Given the description of an element on the screen output the (x, y) to click on. 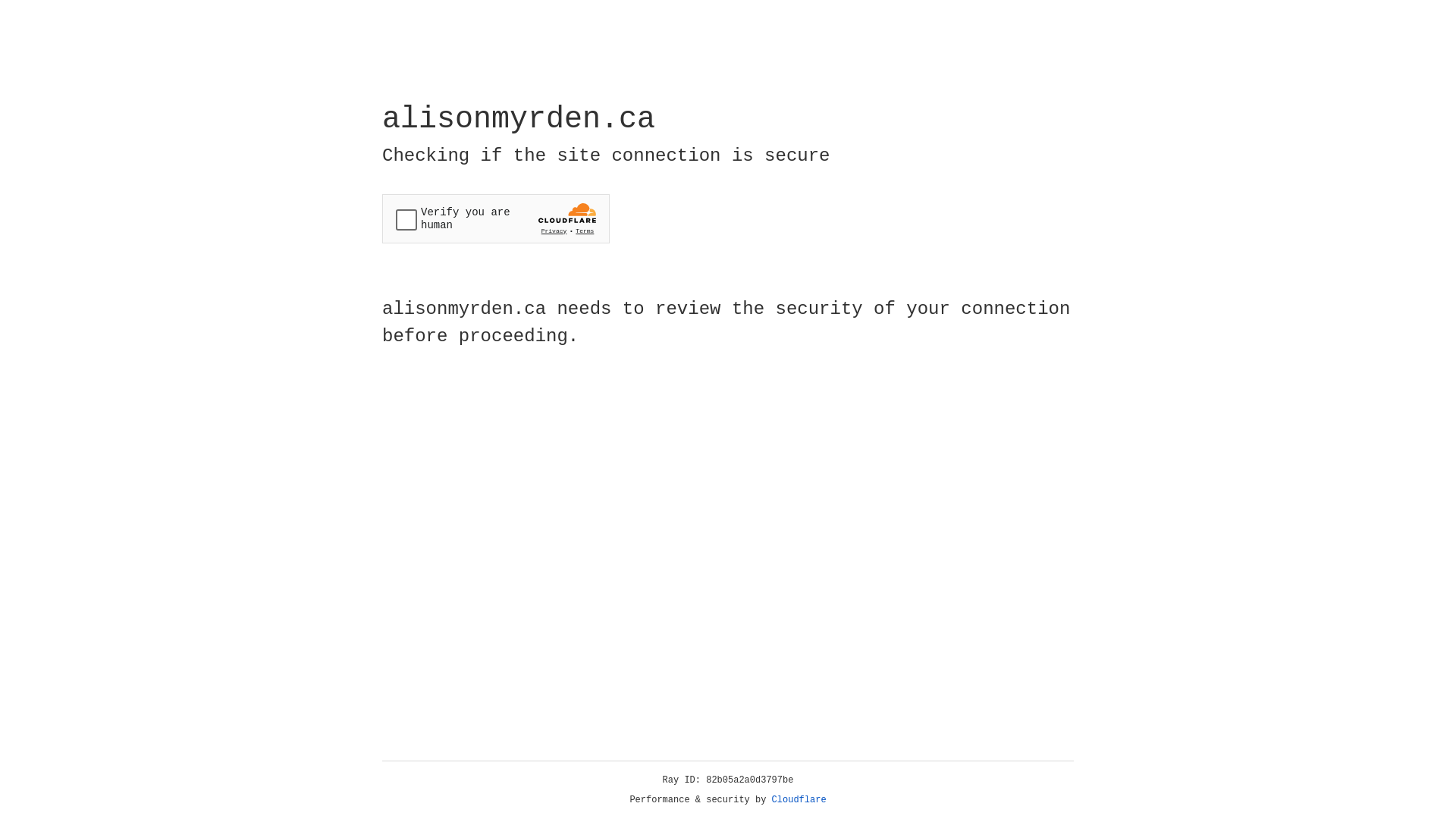
Cloudflare Element type: text (798, 799)
Widget containing a Cloudflare security challenge Element type: hover (495, 218)
